Given the description of an element on the screen output the (x, y) to click on. 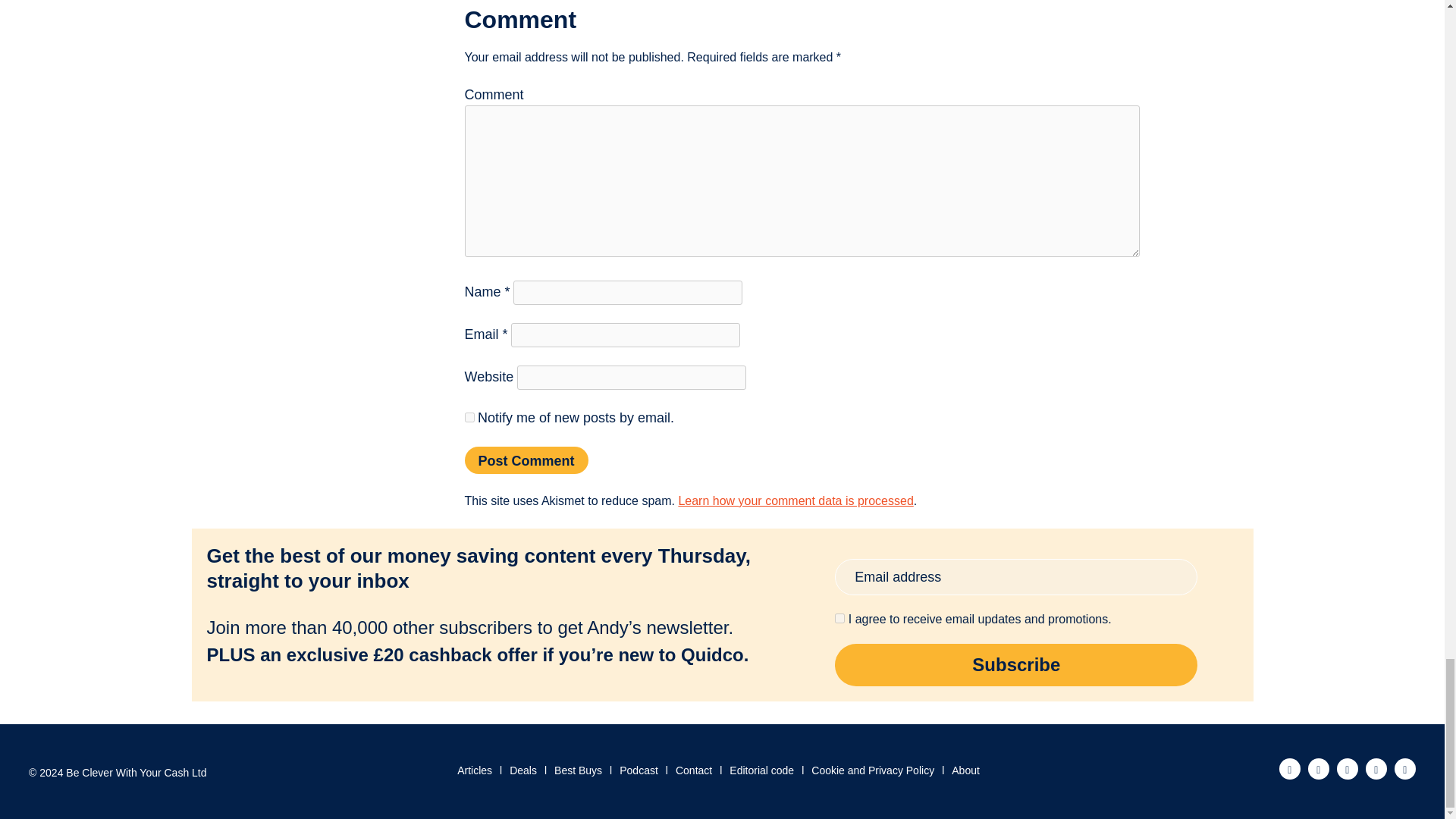
on (839, 618)
subscribe (469, 417)
Post Comment (526, 460)
Subscribe (1015, 664)
